Given the description of an element on the screen output the (x, y) to click on. 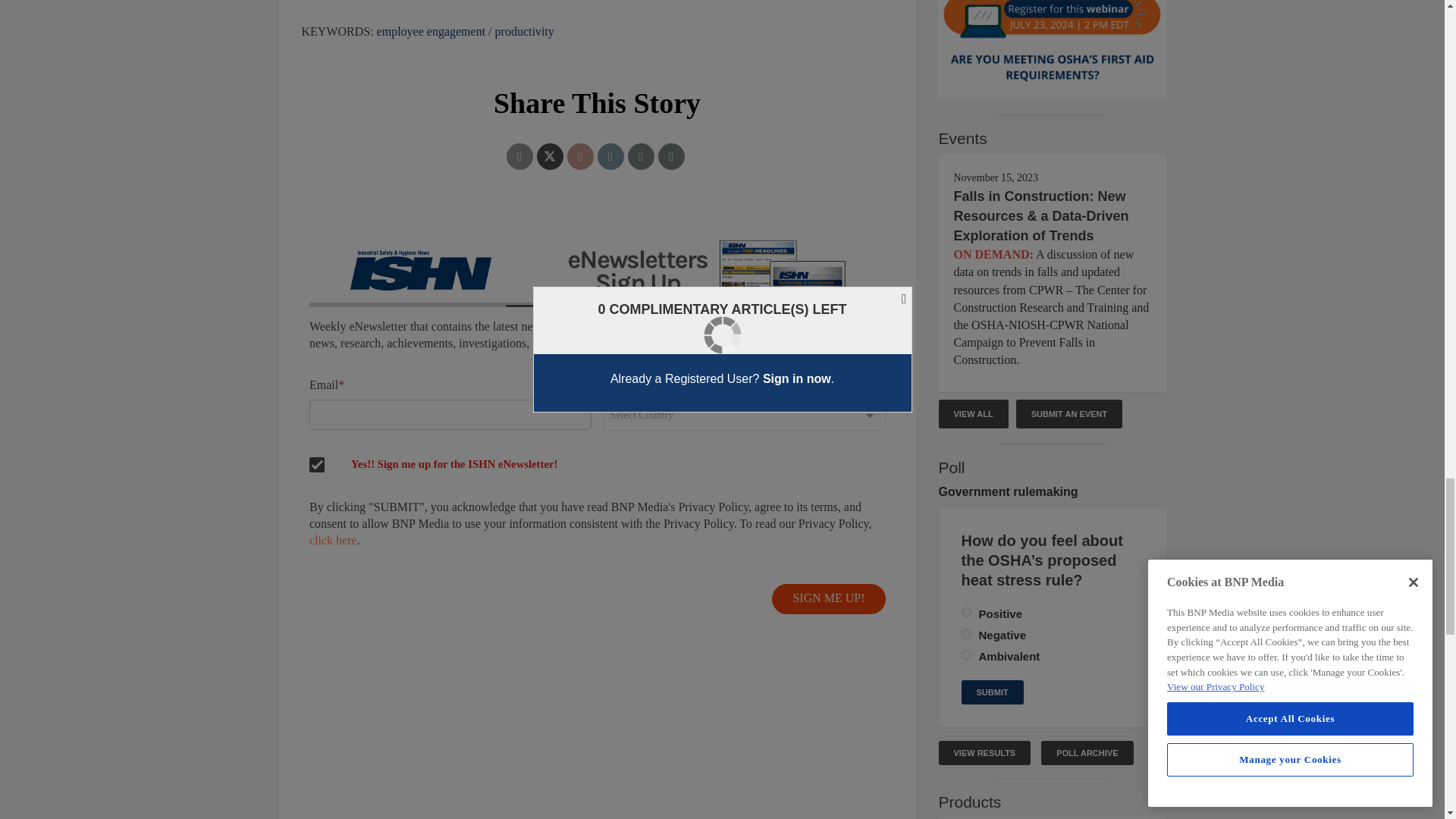
142 (965, 612)
143 (965, 633)
144 (965, 655)
Submit (991, 692)
